Given the description of an element on the screen output the (x, y) to click on. 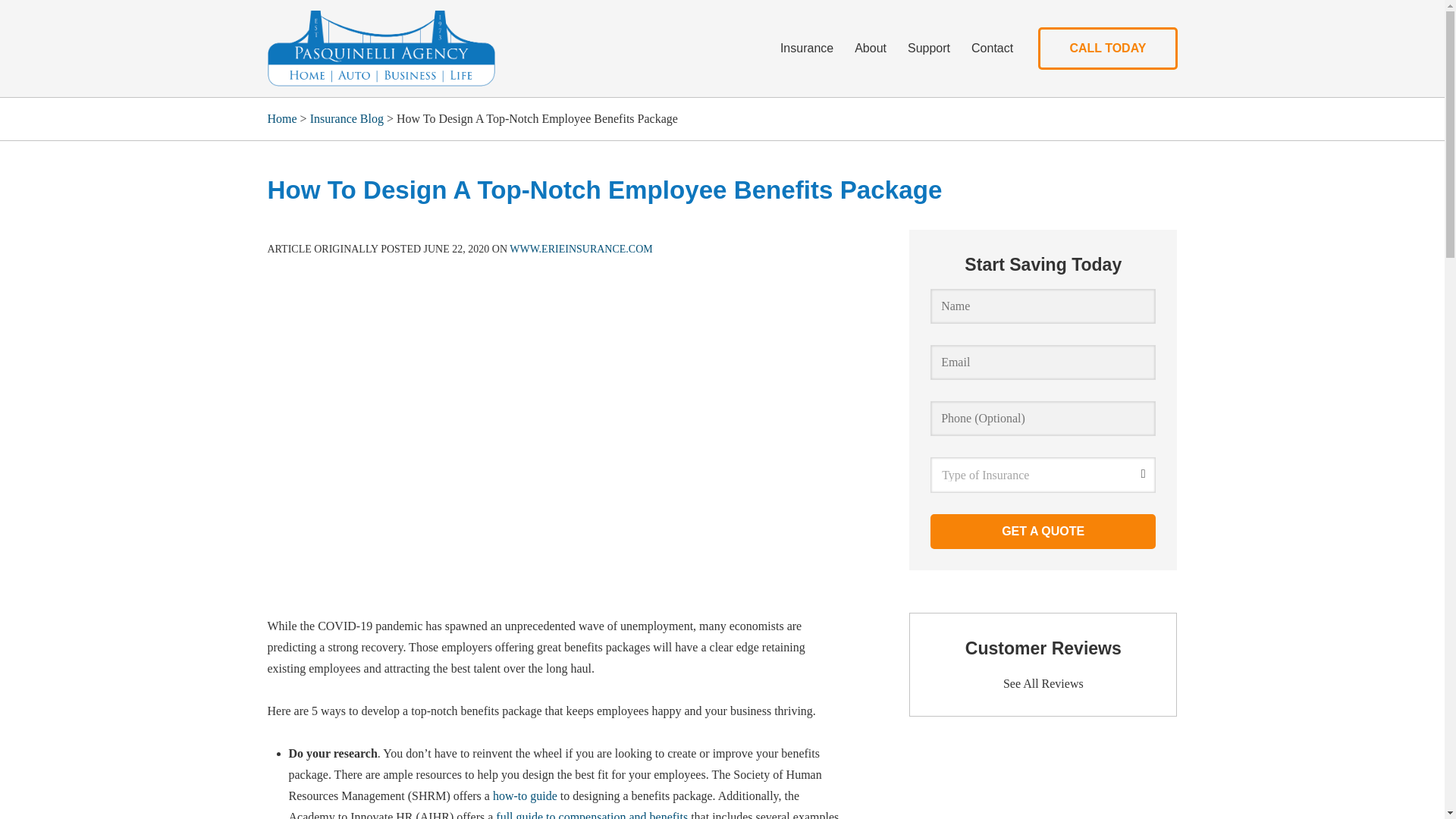
Home (281, 118)
Insurance (807, 48)
CALL TODAY (1107, 48)
About (870, 48)
Contact (991, 48)
Insurance Blog (347, 118)
Get A Quote (1043, 531)
Support (928, 48)
